Given the description of an element on the screen output the (x, y) to click on. 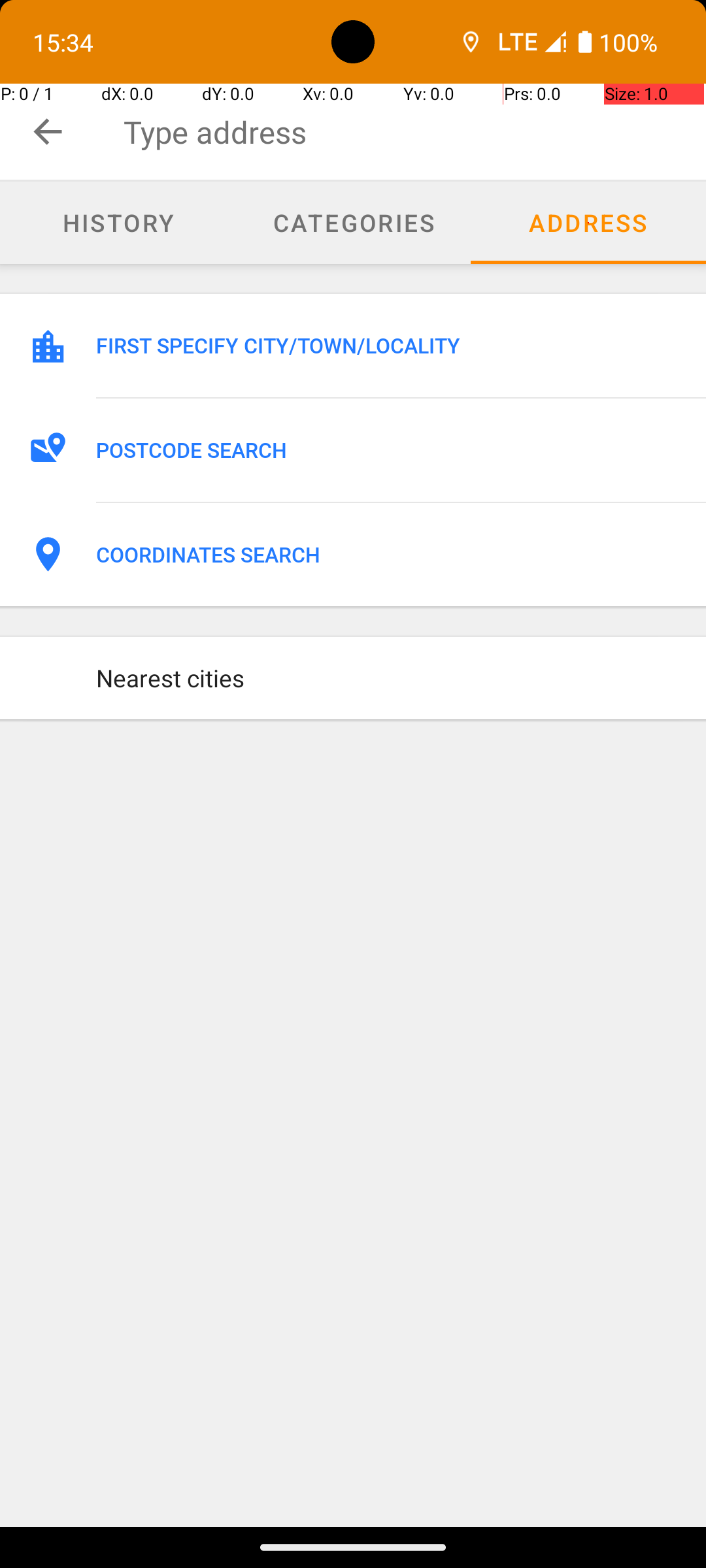
Type address Element type: android.widget.EditText (414, 131)
FIRST SPECIFY CITY/TOWN/LOCALITY Element type: android.widget.TextView (387, 345)
POSTCODE SEARCH Element type: android.widget.TextView (387, 450)
COORDINATES SEARCH Element type: android.widget.TextView (387, 554)
Nearest cities Element type: android.widget.TextView (387, 678)
